Given the description of an element on the screen output the (x, y) to click on. 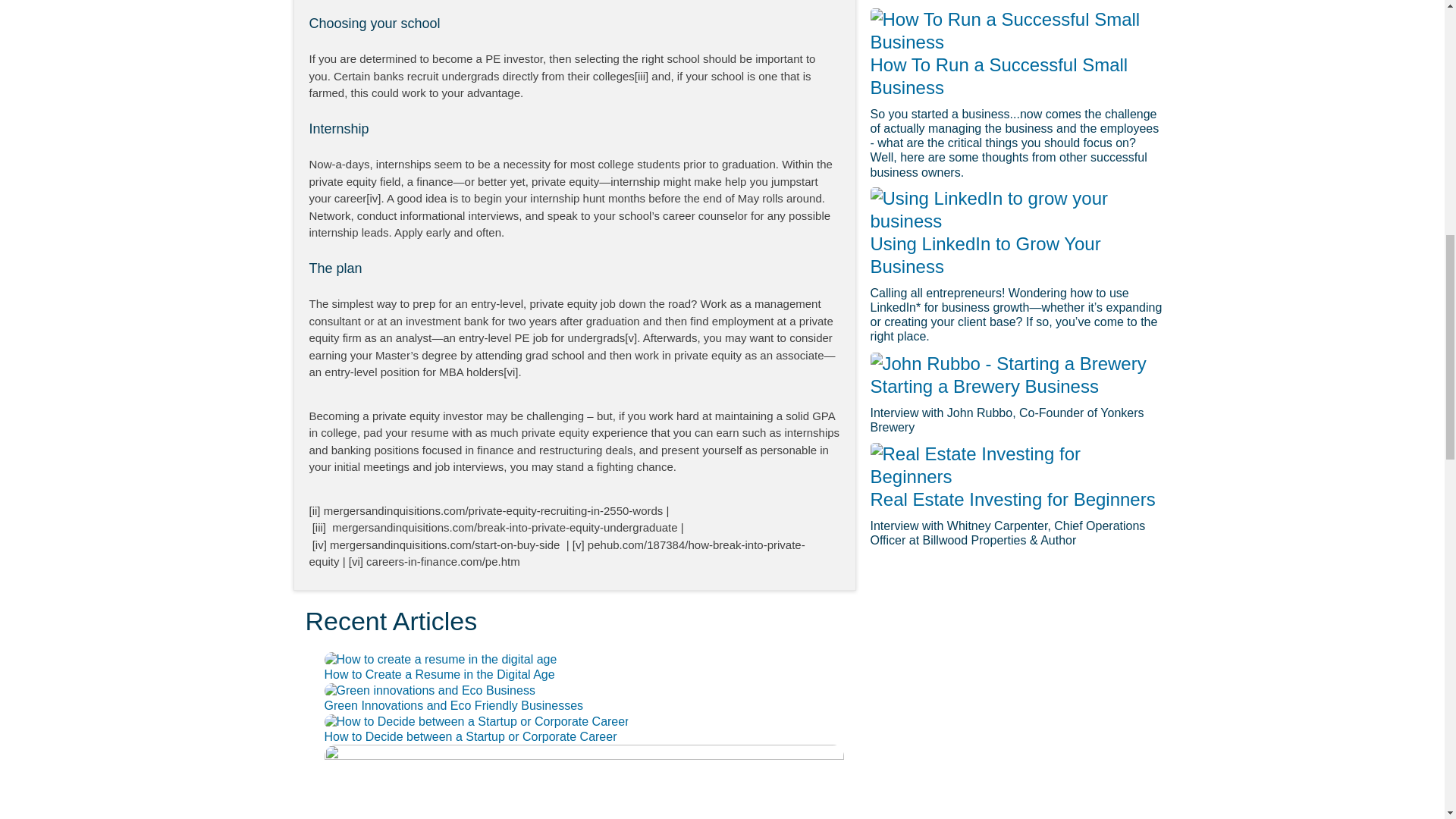
Using LInkedIn for business (1018, 209)
How to Decide between a Startup or Corporate Career (470, 736)
Green Innovations and Eco Friendly Businesses (453, 705)
How to Decide between a Startup or Corporate Career (476, 721)
How To Run a Successful Small Business (1018, 31)
Real Estate Investing for Beginners (1018, 465)
Green innovations and Eco Business (429, 690)
How to create a resume in the digital age (440, 659)
John Rubbo of Yonkers Brewery on Starting a Brewery Business (1008, 363)
How to Create a Resume in the Digital Age (439, 674)
